Given the description of an element on the screen output the (x, y) to click on. 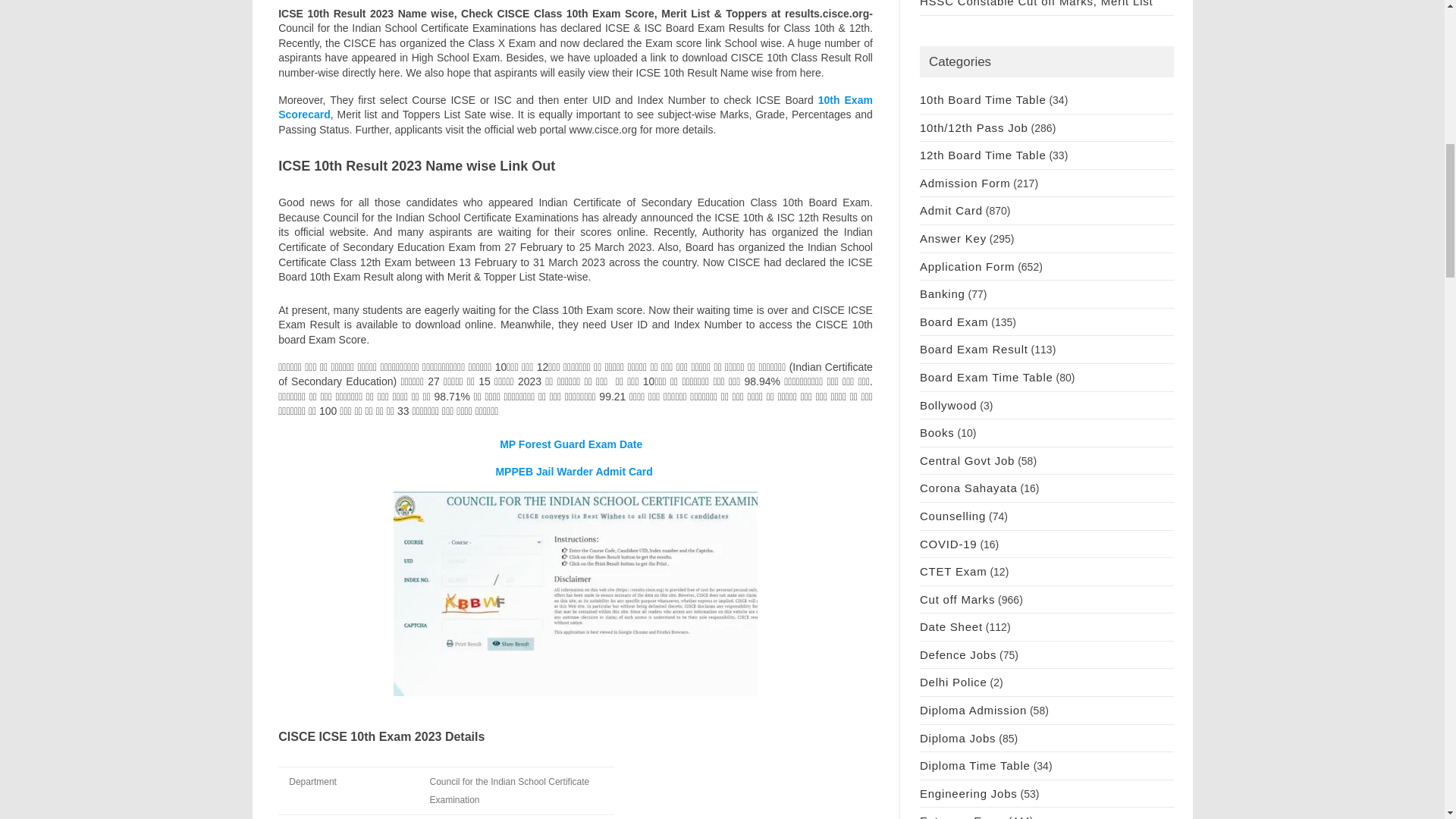
10th Exam Scorecard (575, 107)
MPPEB Jail Warder Admit Card  (575, 471)
MP Forest Guard Exam Date    (574, 444)
CISCE Class 10th Result  (575, 593)
